Given the description of an element on the screen output the (x, y) to click on. 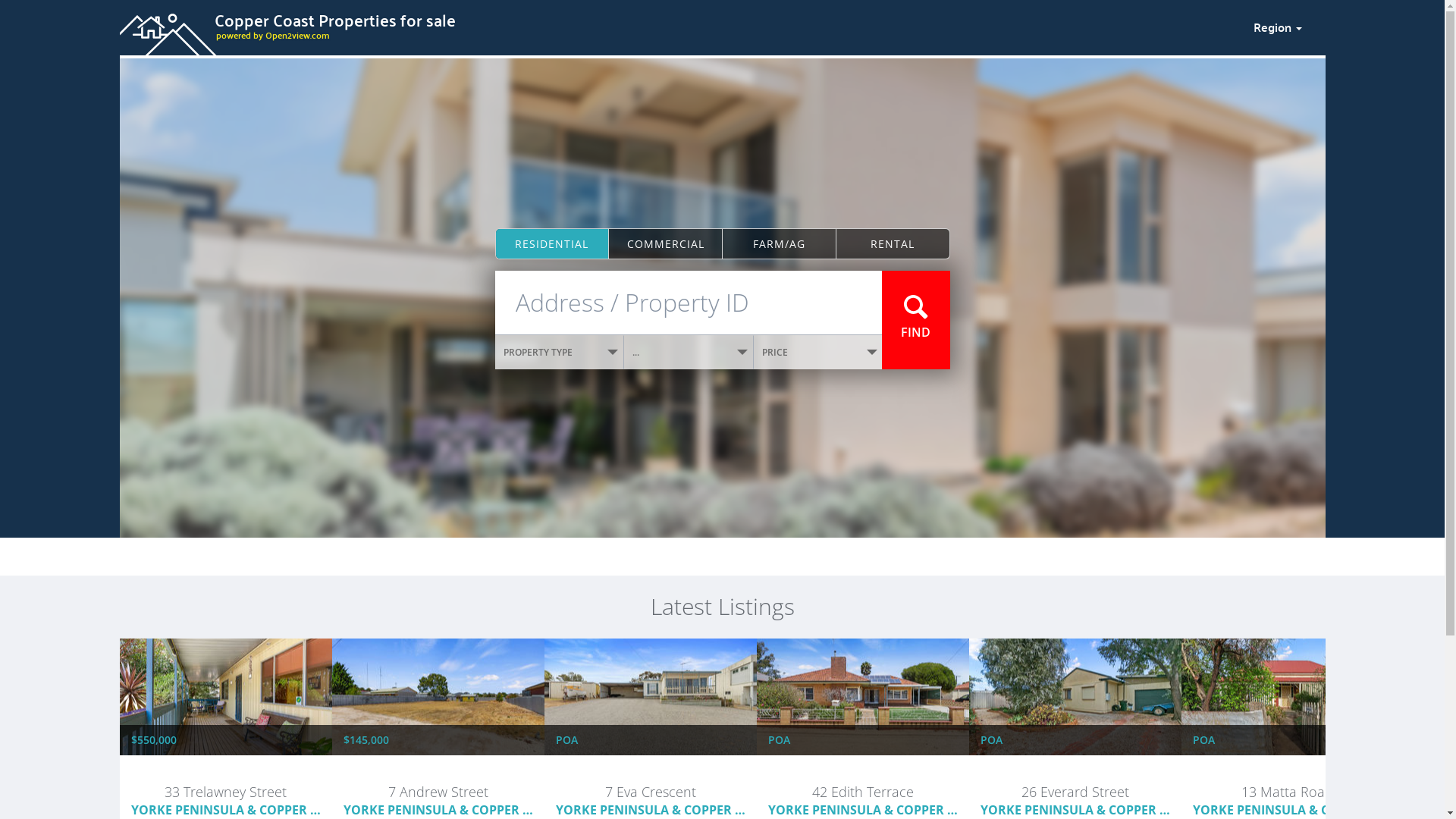
Property #853292 Element type: hover (1074, 775)
... Element type: text (688, 352)
Property #851874 Element type: hover (225, 775)
Property #851594 Element type: hover (862, 775)
Property #853193 Element type: hover (437, 775)
PRICE Element type: text (817, 352)
Property #853582 Element type: hover (649, 775)
Property #845489 Element type: hover (1286, 775)
PROPERTY TYPE Element type: text (559, 352)
Copper Coast Properties for sale
powered by Open2view.com Element type: text (676, 25)
